Given the description of an element on the screen output the (x, y) to click on. 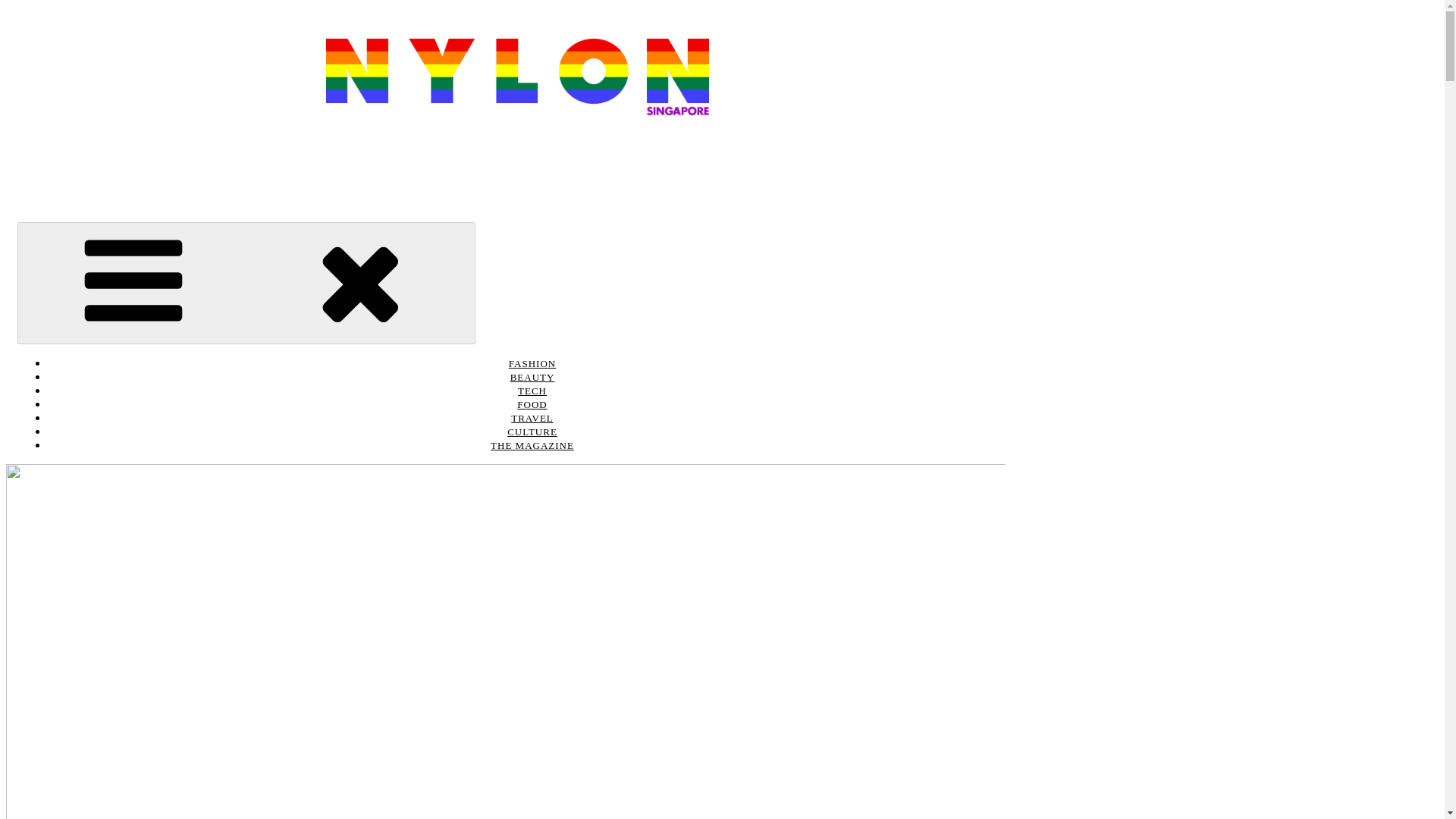
TECH (531, 390)
FOOD (531, 404)
CULTURE (531, 431)
THE MAGAZINE (532, 445)
TRAVEL (532, 418)
FASHION (532, 363)
BEAUTY (531, 377)
